Given the description of an element on the screen output the (x, y) to click on. 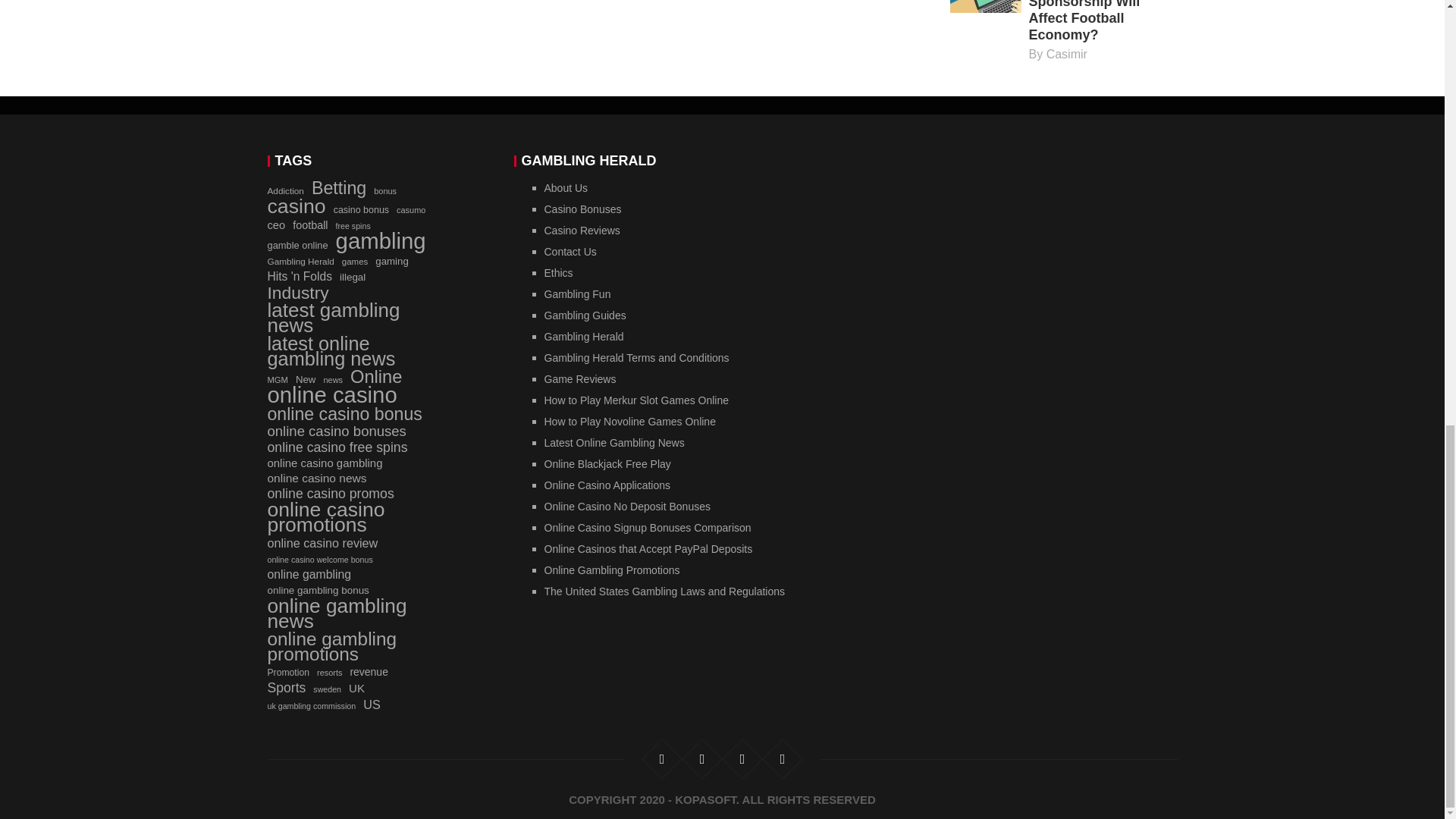
Posts by Casimir (1066, 53)
